Given the description of an element on the screen output the (x, y) to click on. 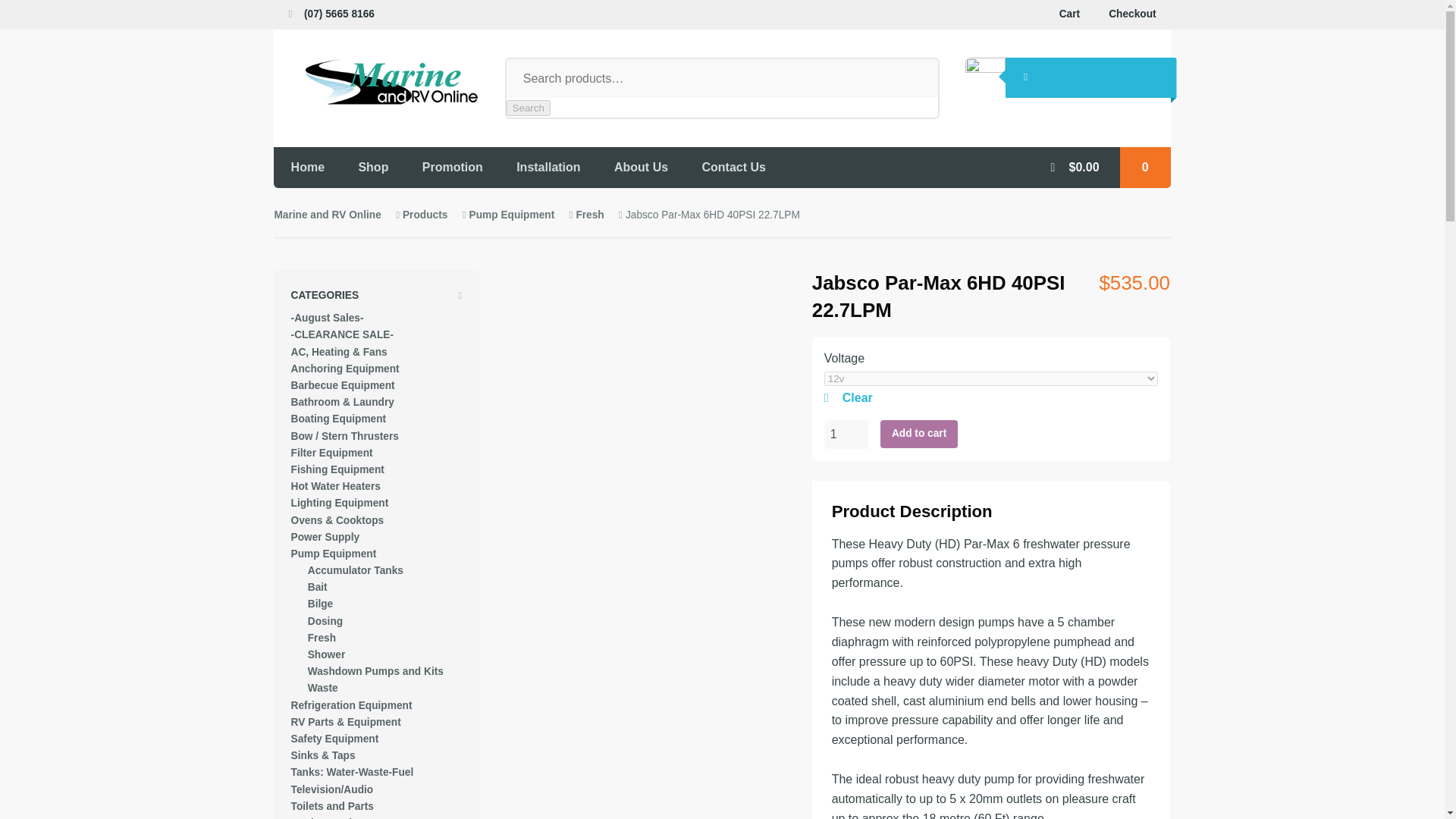
Fresh (589, 214)
Clear (990, 397)
Contact Us (733, 167)
Marine and RV Online (326, 214)
Add to cart (919, 433)
About Us (640, 167)
Pump Equipment (511, 214)
Products (424, 214)
Log In (1026, 77)
View Pump Equipment (511, 214)
